Given the description of an element on the screen output the (x, y) to click on. 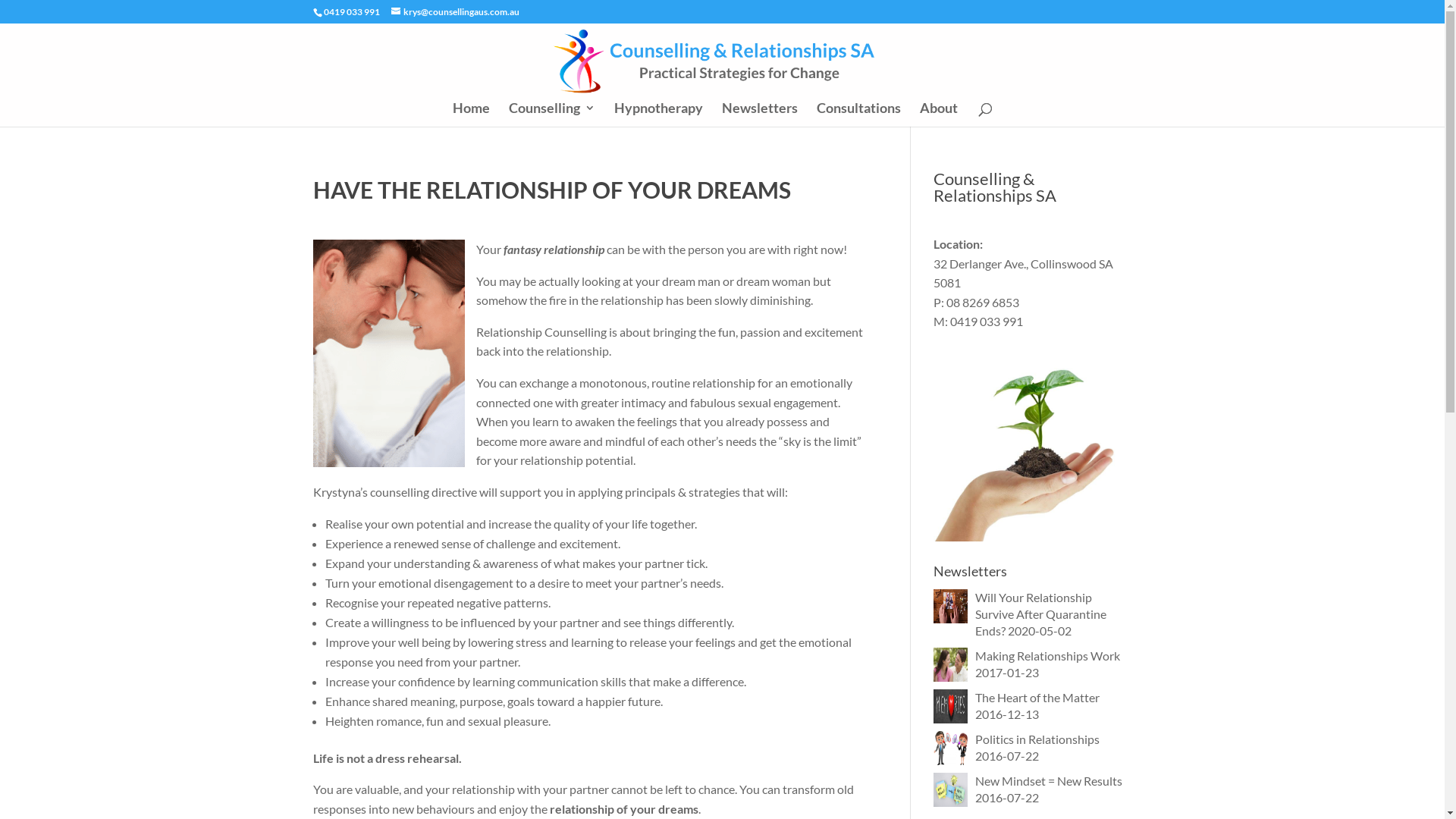
Will Your Relationship Survive After Quarantine Ends? Element type: text (1040, 613)
krys@counsellingaus.com.au Element type: text (455, 11)
Newsletters Element type: text (759, 114)
Consultations Element type: text (858, 114)
Home Element type: text (470, 114)
Making Relationships Work Element type: text (1047, 655)
New Mindset = New Results Element type: text (1048, 780)
Politics in Relationships Element type: text (1037, 738)
Counselling Element type: text (551, 114)
The Heart of the Matter Element type: text (1037, 697)
Hypnotherapy Element type: text (658, 114)
About Element type: text (938, 114)
0419 033 991 Element type: text (350, 11)
